Given the description of an element on the screen output the (x, y) to click on. 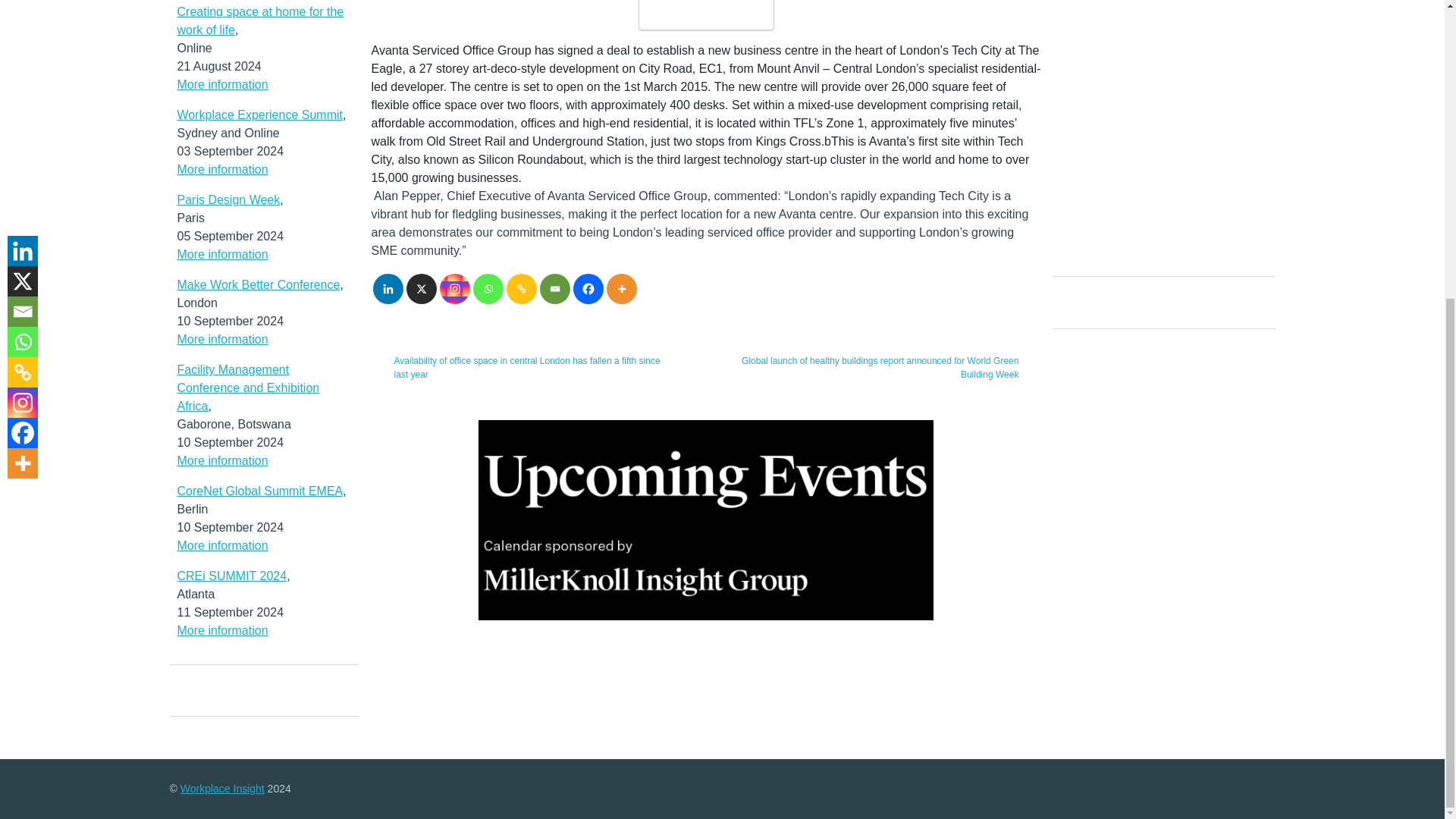
More (622, 288)
Facebook (588, 288)
Copy Link (521, 288)
Instagram (454, 288)
Whatsapp (488, 288)
Email (555, 288)
X (421, 288)
Linkedin (387, 288)
